Given the description of an element on the screen output the (x, y) to click on. 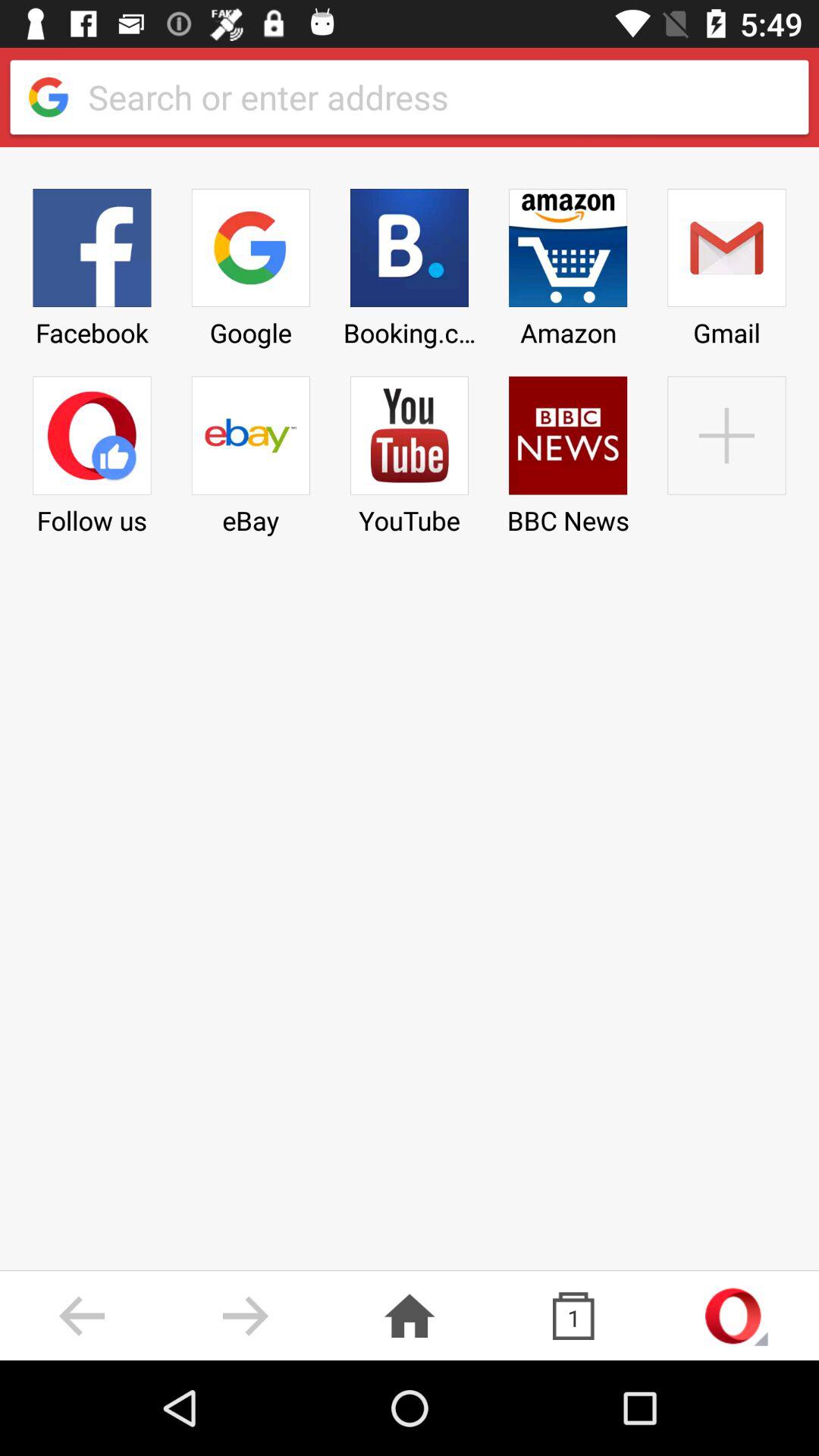
choose the item above ebay icon (250, 262)
